Given the description of an element on the screen output the (x, y) to click on. 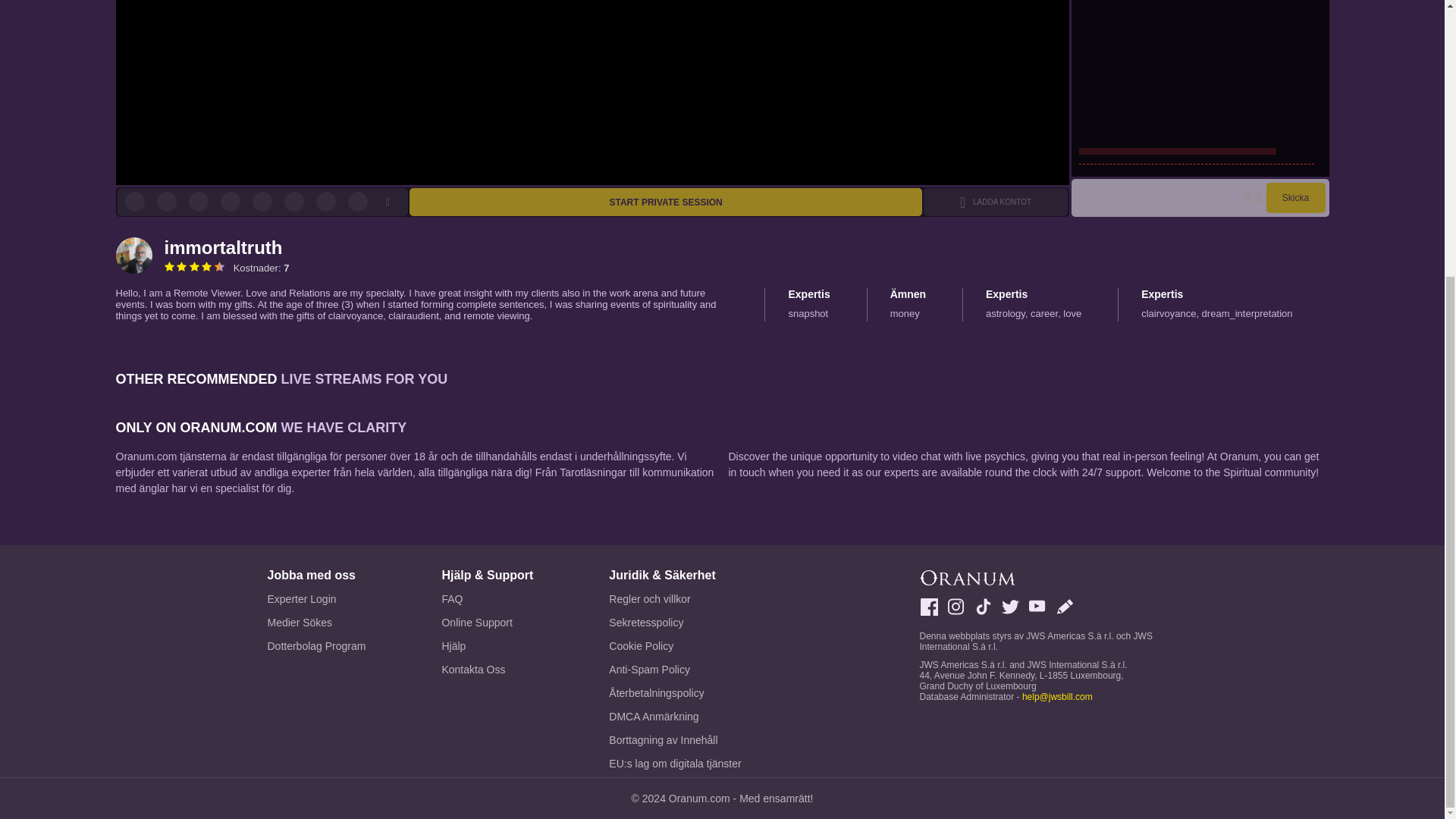
Kontakta Oss (486, 669)
Regler och villkor (674, 598)
FAQ (486, 598)
Dotterbolag Program (315, 646)
Sekretesspolicy (674, 622)
Cookie Policy (674, 646)
Online Support (486, 622)
Anti-Spam Policy (674, 669)
Experter Login (315, 598)
